Given the description of an element on the screen output the (x, y) to click on. 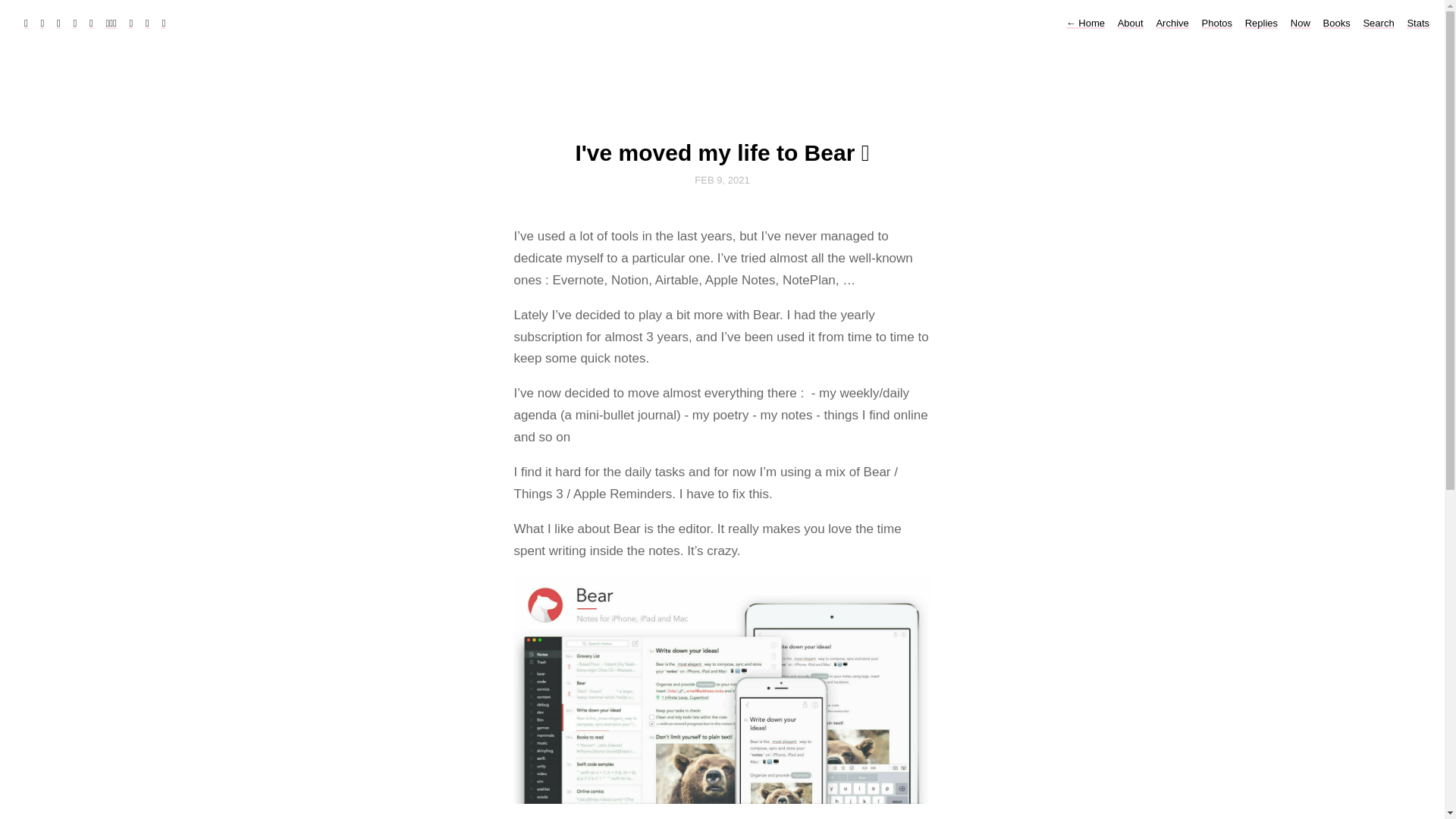
Photos (1216, 22)
Now (1300, 22)
About (1130, 22)
geek (110, 22)
Archive (1172, 22)
Books (1337, 22)
Replies (1261, 22)
Stats (1417, 22)
Search (1377, 22)
Search (21, 7)
FEB 9, 2021 (721, 177)
